Given the description of an element on the screen output the (x, y) to click on. 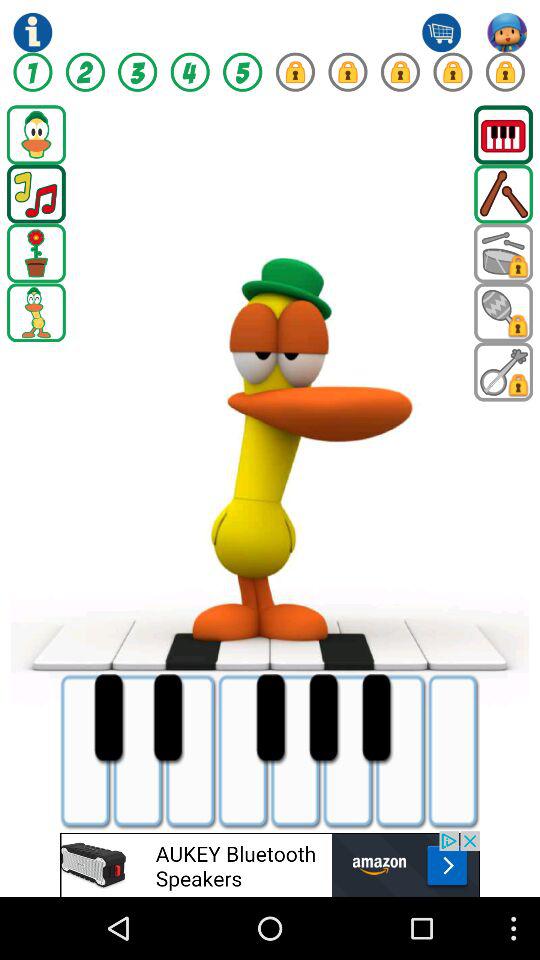
select piano (503, 134)
